Given the description of an element on the screen output the (x, y) to click on. 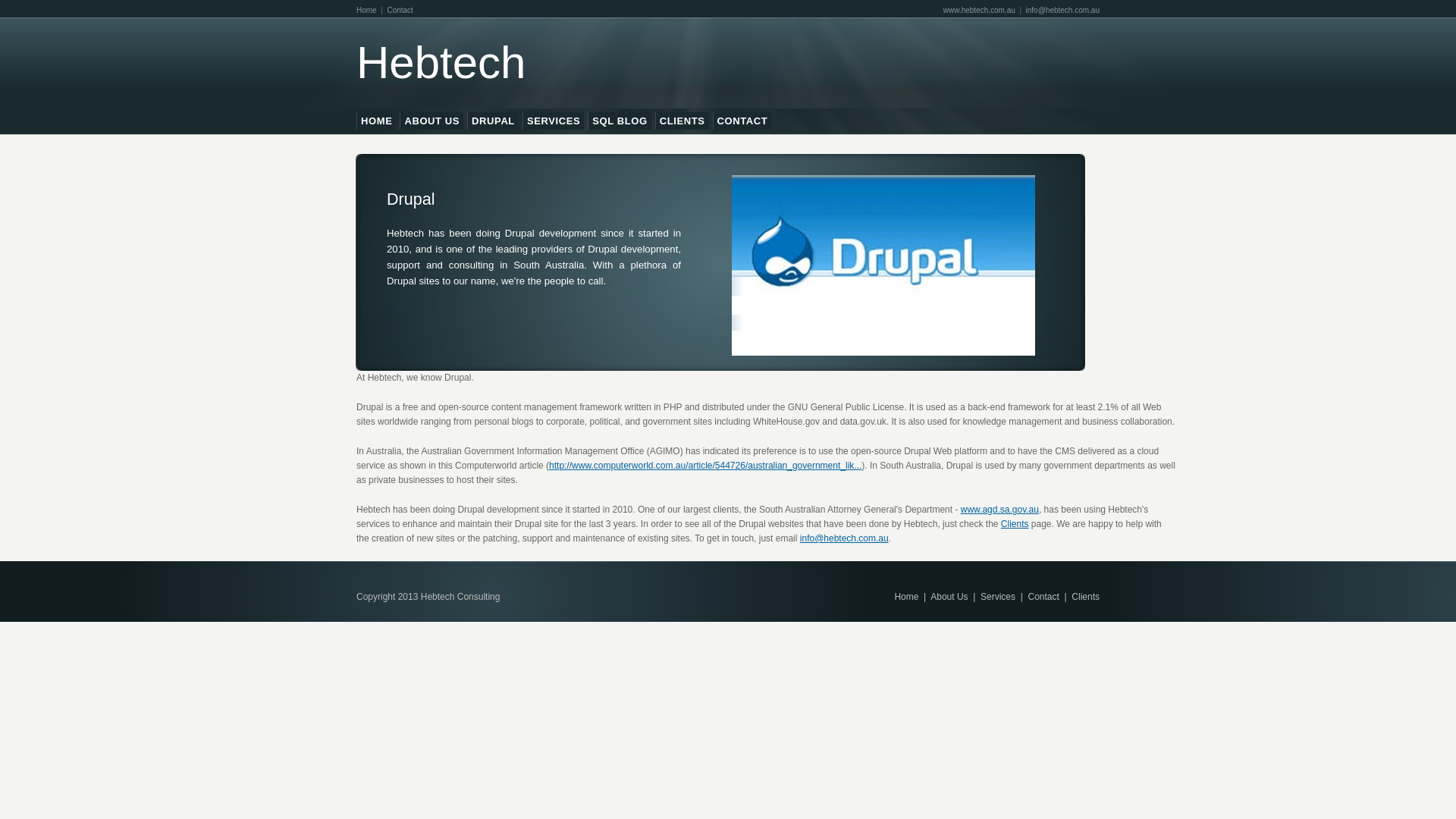
Skip to main content Element type: text (702, 1)
info@hebtech.com.au Element type: text (844, 538)
Home Element type: text (366, 10)
Clients Element type: text (1015, 523)
SERVICES Element type: text (553, 120)
info@hebtech.com.au Element type: text (1062, 10)
CONTACT Element type: text (742, 120)
SQL BLOG Element type: text (619, 120)
ABOUT US Element type: text (431, 120)
Services Element type: text (997, 596)
About Us Element type: text (948, 596)
Home Element type: text (906, 596)
www.hebtech.com.au Element type: text (979, 10)
DRUPAL Element type: text (492, 120)
Contact Element type: text (399, 10)
Clients Element type: text (1085, 596)
Contact Element type: text (1043, 596)
www.agd.sa.gov.au Element type: text (999, 509)
CLIENTS Element type: text (682, 120)
HOME Element type: text (376, 120)
